Given the description of an element on the screen output the (x, y) to click on. 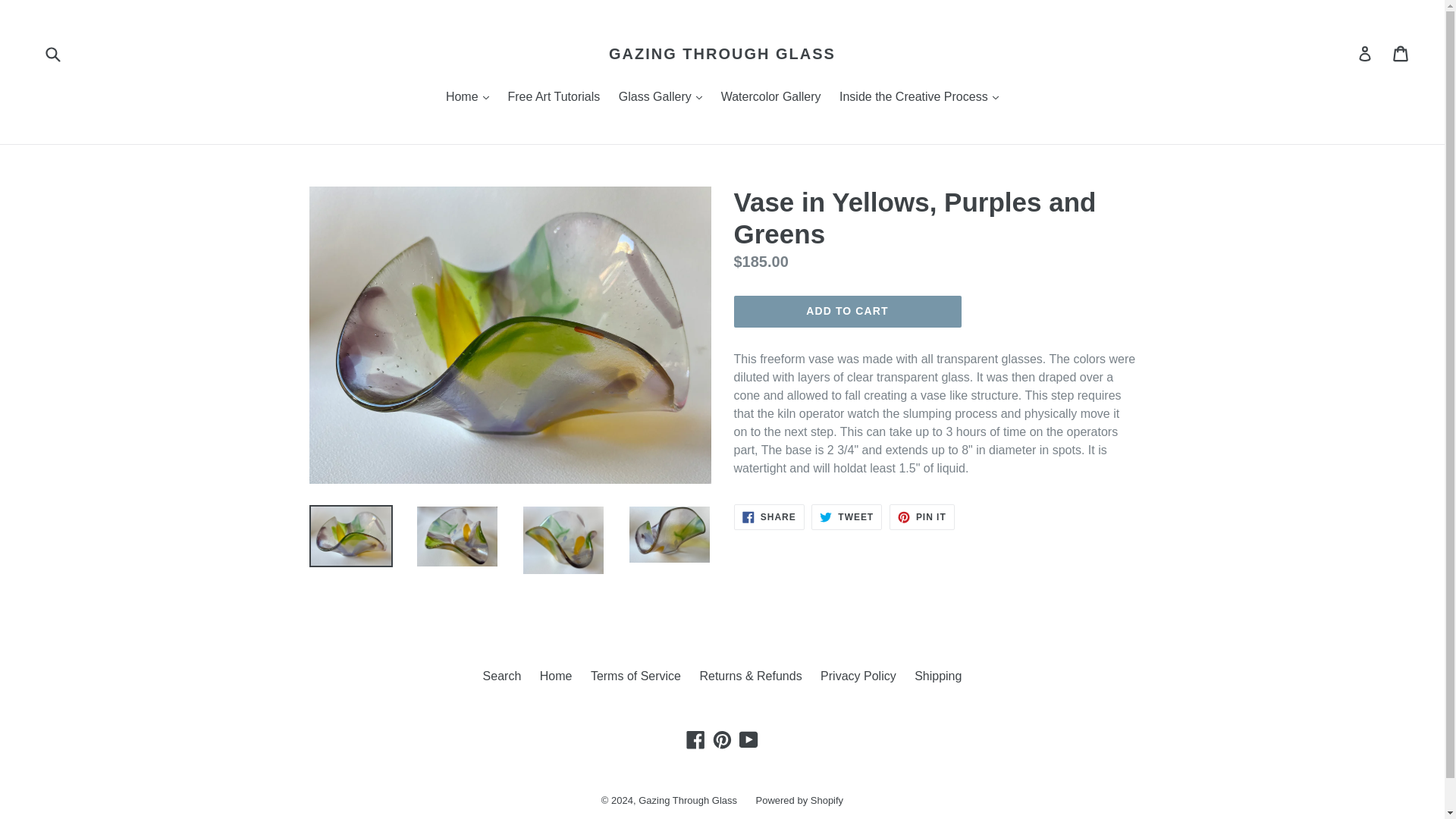
Tweet on Twitter (846, 516)
Share on Facebook (769, 516)
Pin on Pinterest (922, 516)
Free Art Tutorials (553, 97)
Gazing Through Glass on Facebook (695, 738)
Gazing Through Glass on YouTube (748, 738)
GAZING THROUGH GLASS (721, 54)
Gazing Through Glass on Pinterest (721, 738)
